Given the description of an element on the screen output the (x, y) to click on. 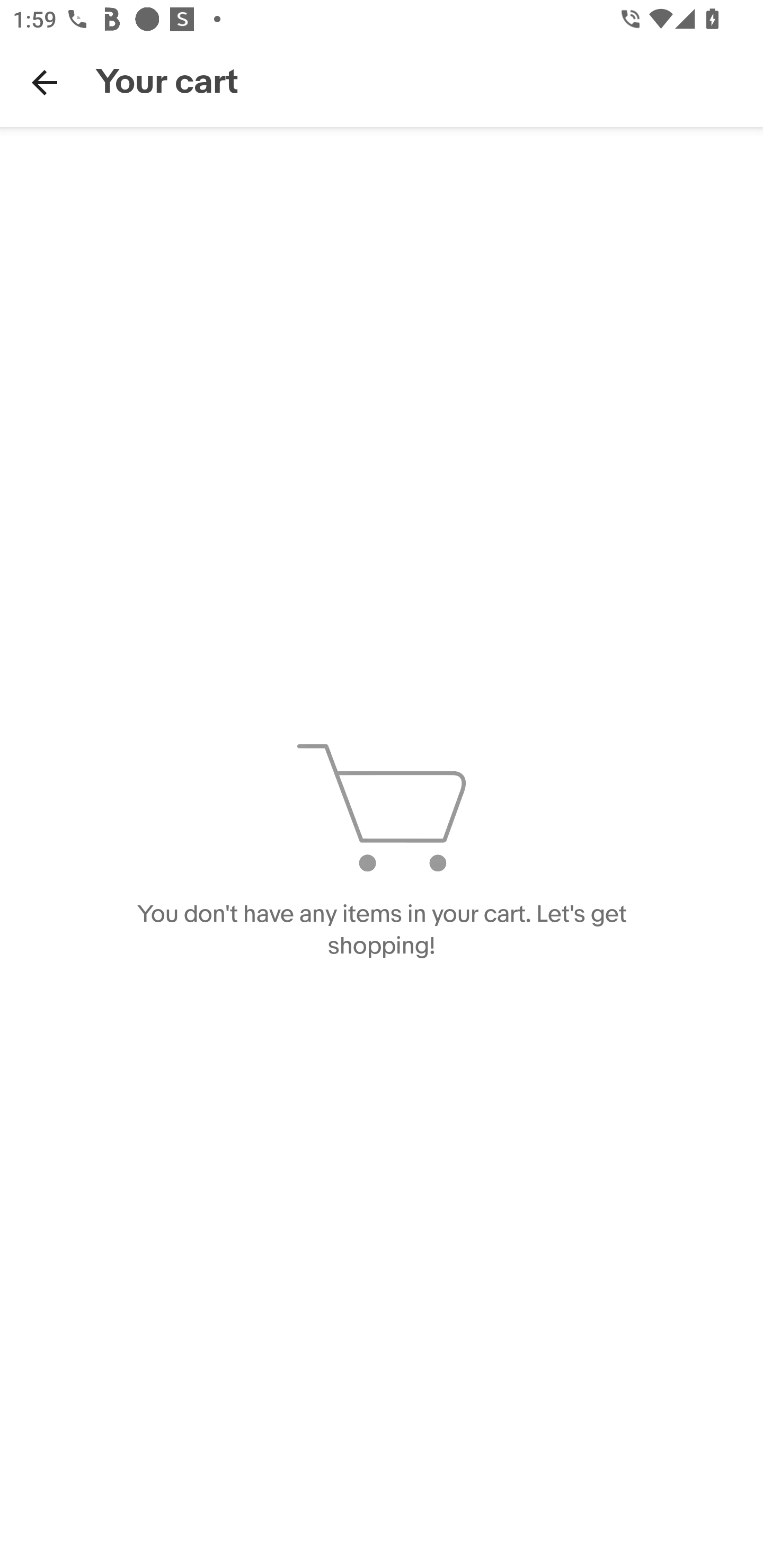
Navigate up (44, 82)
